Given the description of an element on the screen output the (x, y) to click on. 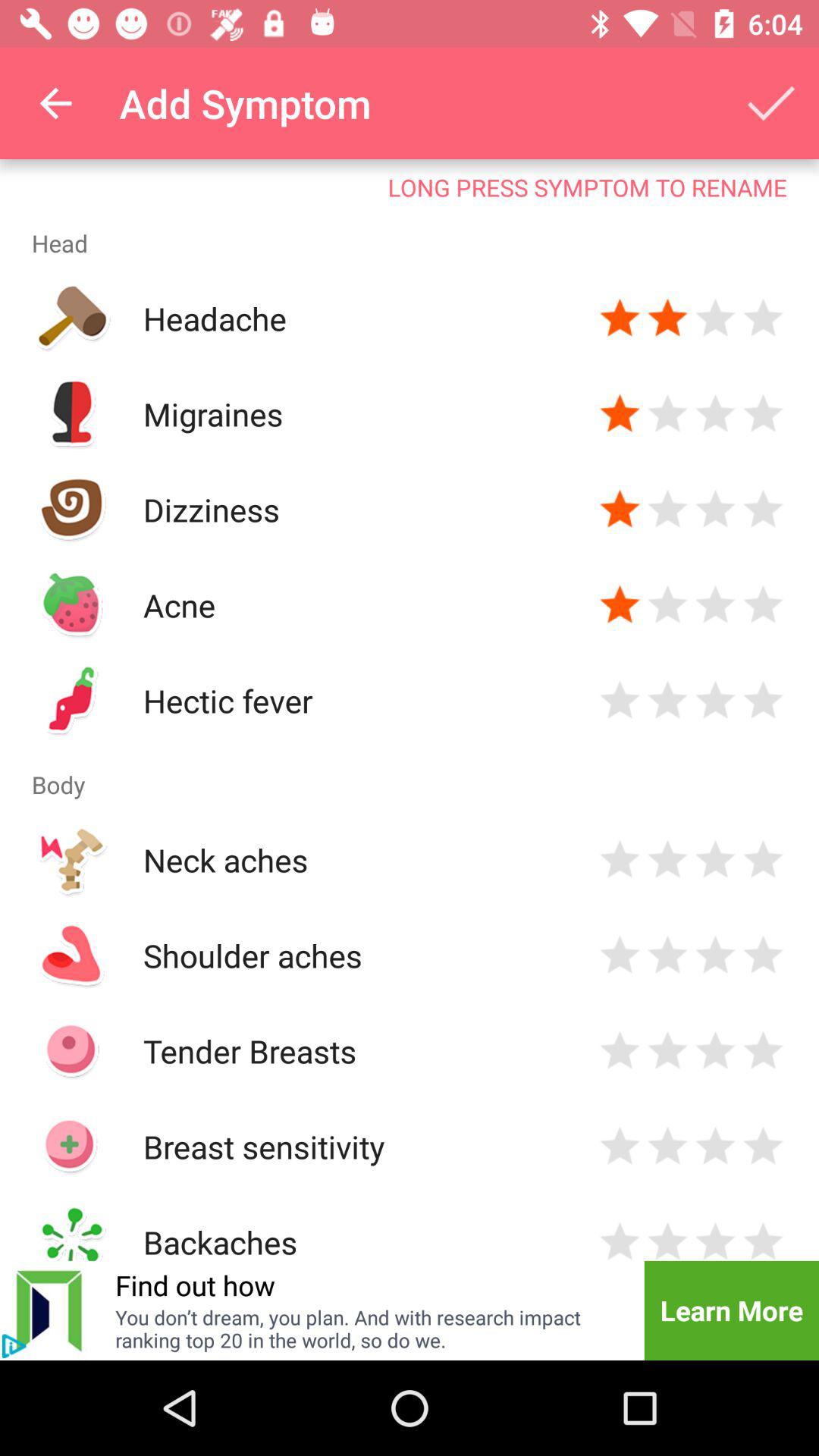
open icon above you don t (195, 1285)
